Given the description of an element on the screen output the (x, y) to click on. 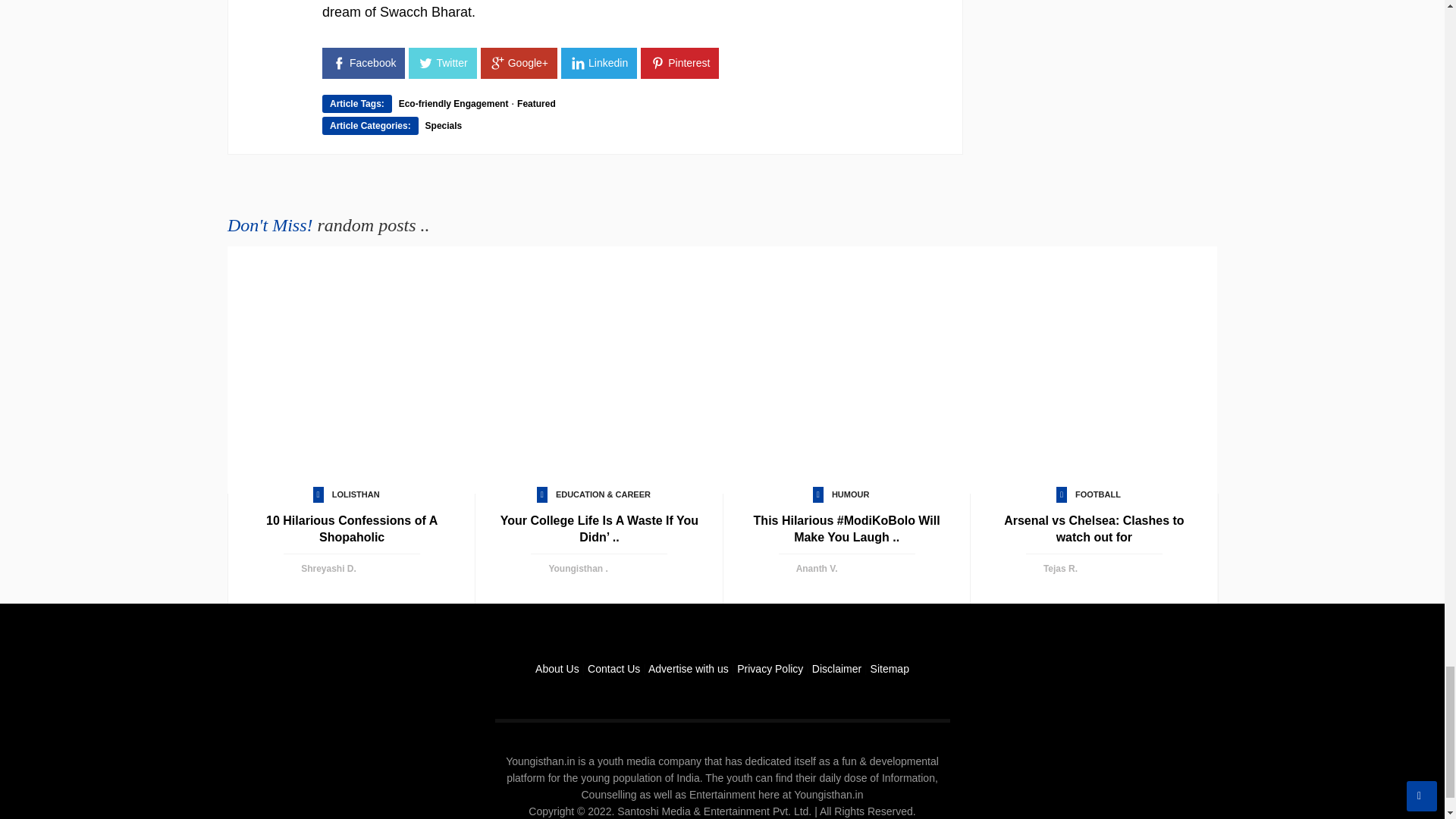
Facebook (362, 62)
Pinterest (679, 62)
Linkedin (598, 62)
Twitter (442, 62)
